Given the description of an element on the screen output the (x, y) to click on. 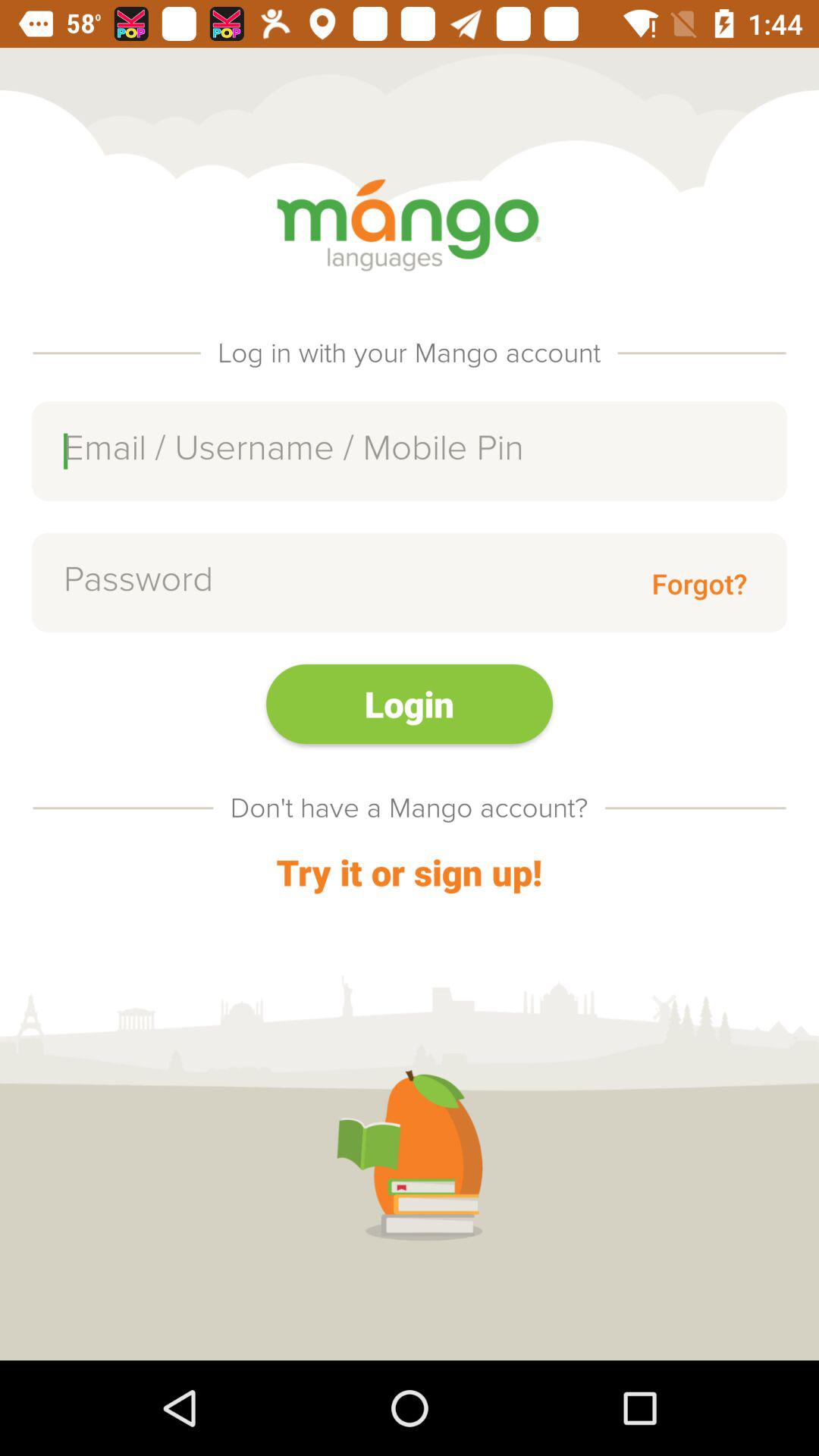
tap item below the don t have item (409, 872)
